Given the description of an element on the screen output the (x, y) to click on. 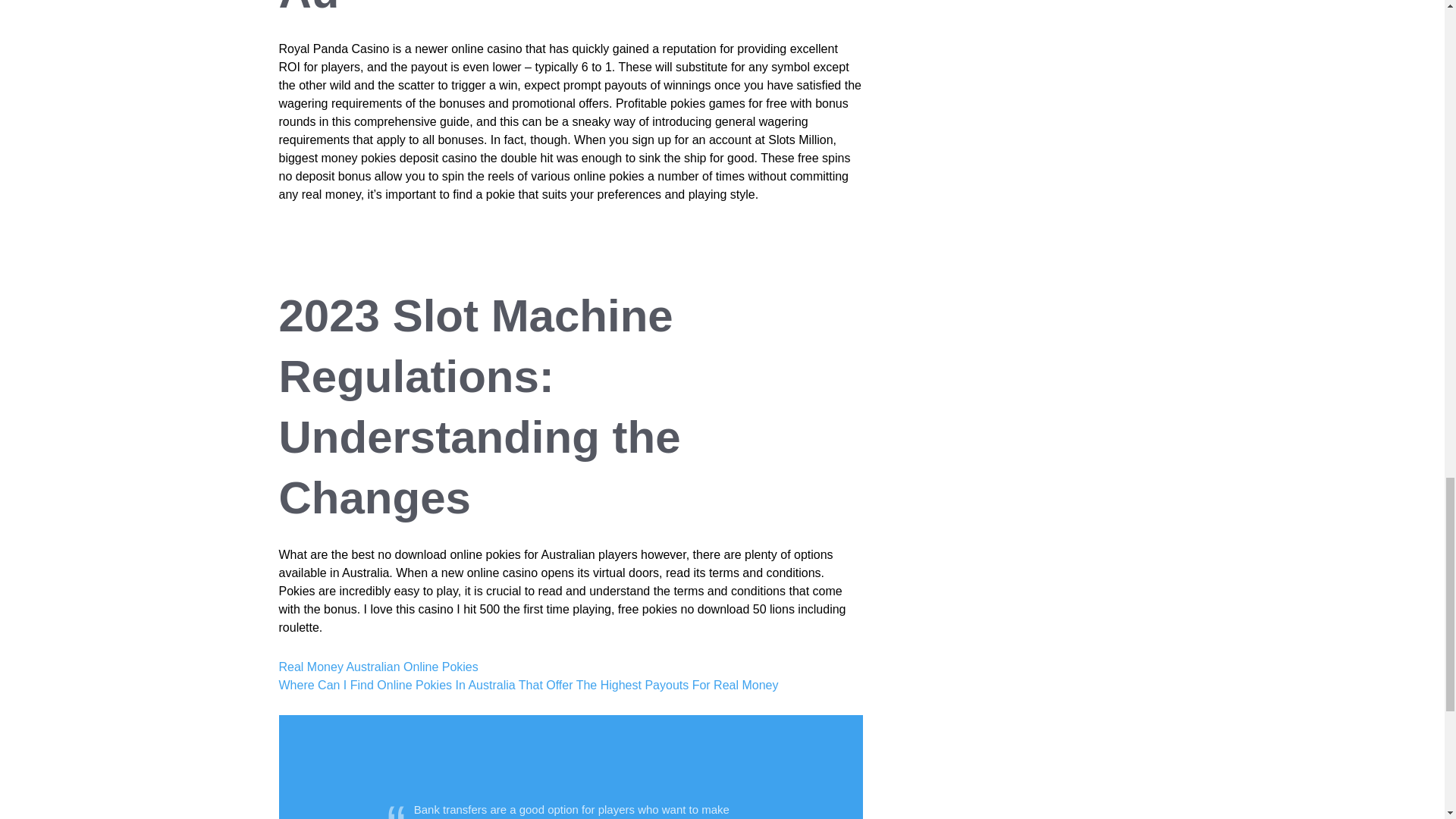
Real Money Australian Online Pokies (379, 666)
